Given the description of an element on the screen output the (x, y) to click on. 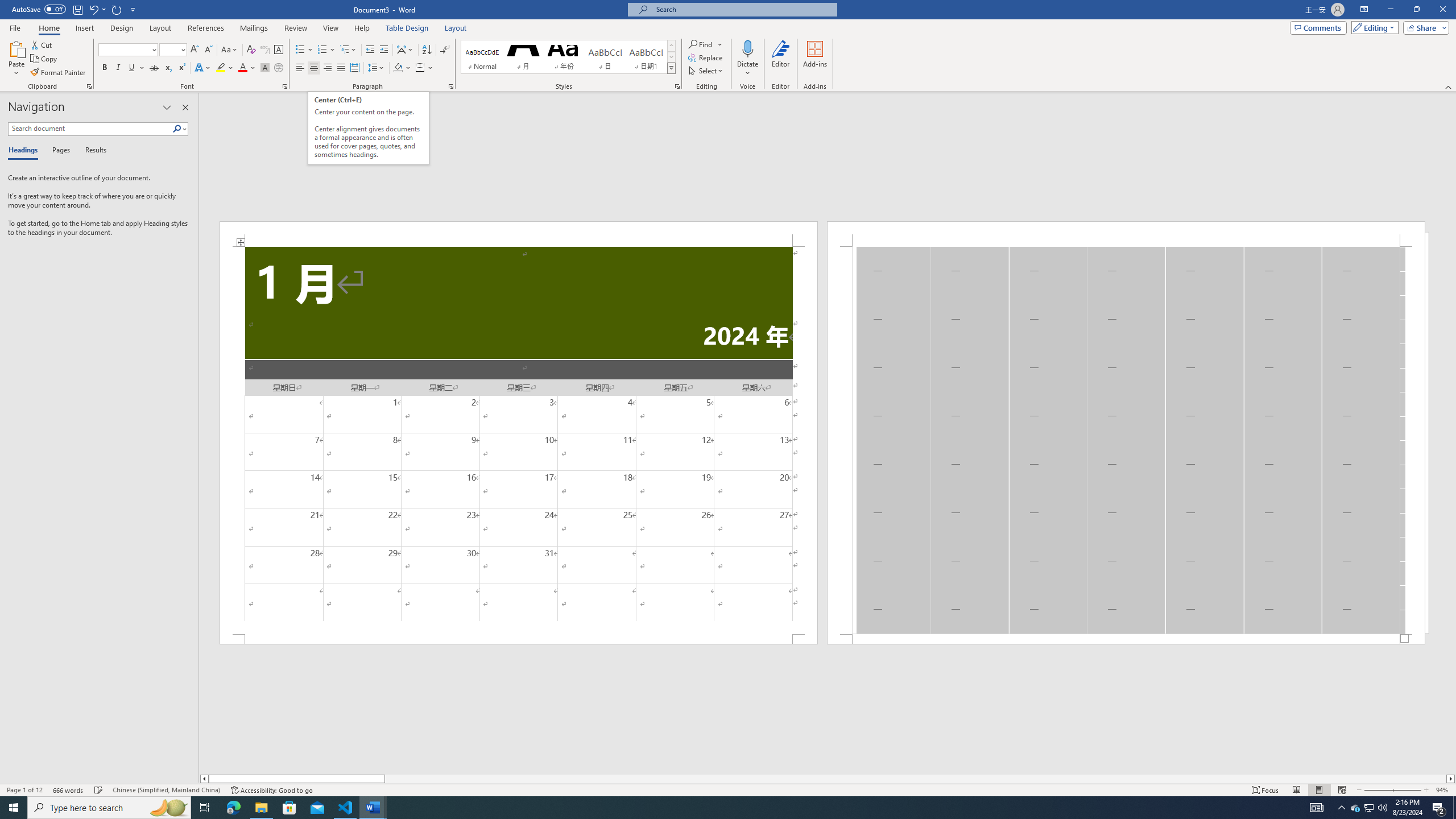
Shading (402, 67)
AutomationID: QuickStylesGallery (568, 56)
Grow Font (193, 49)
Header -Section 1- (1126, 233)
Undo Apply Quick Style (92, 9)
Cut (42, 44)
Font Color (246, 67)
Replace... (705, 56)
